Given the description of an element on the screen output the (x, y) to click on. 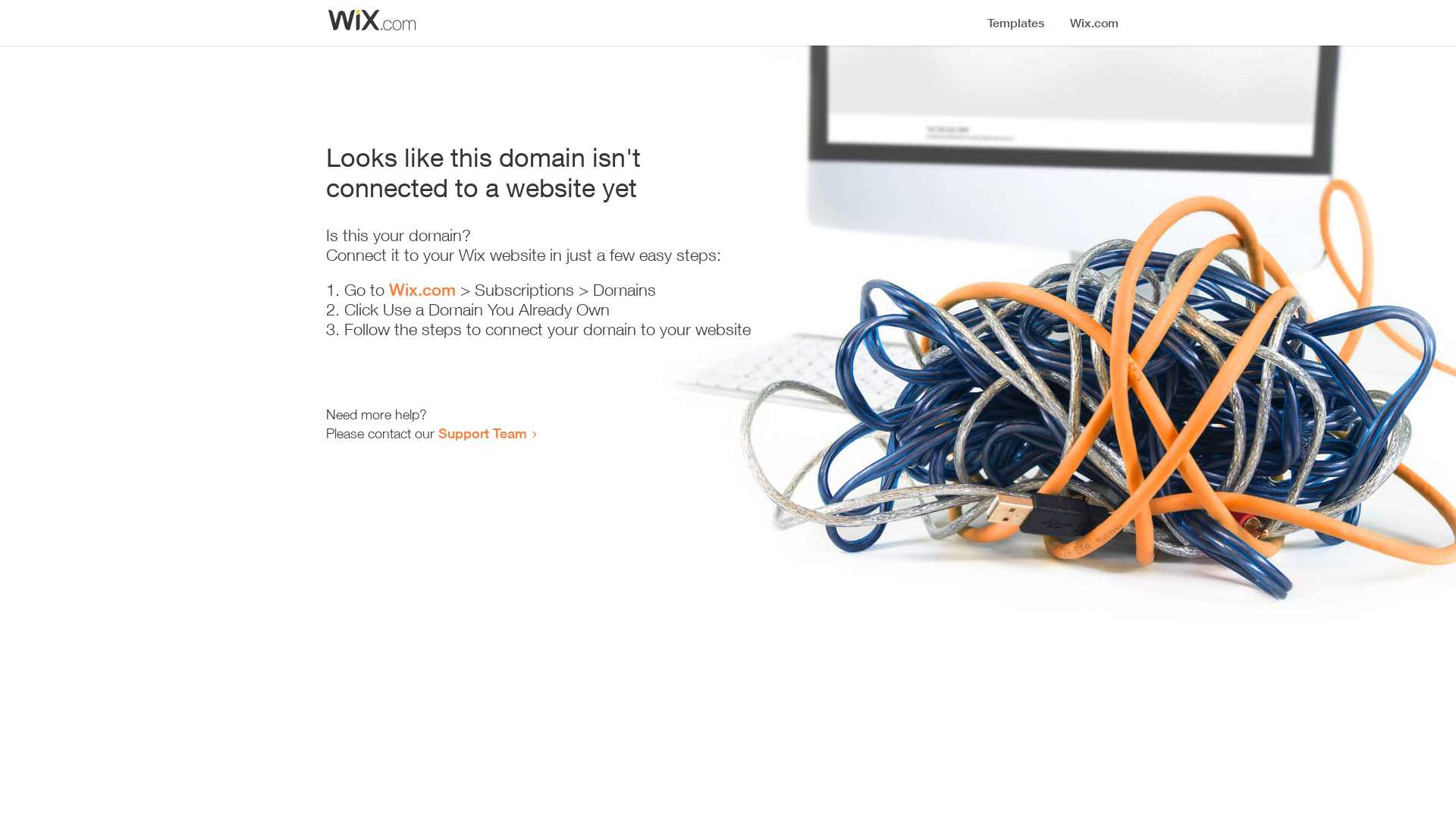
Wix.com Element type: text (422, 289)
Support Team Element type: text (482, 432)
